Given the description of an element on the screen output the (x, y) to click on. 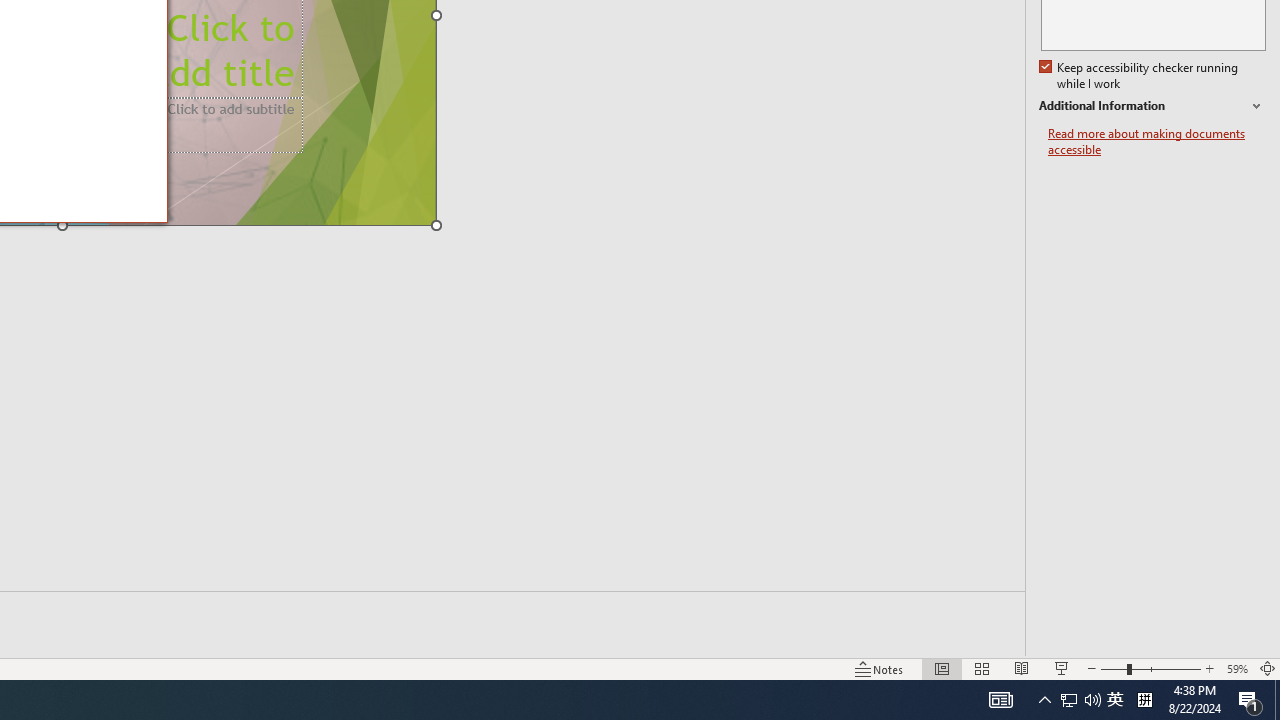
Zoom 59% (1236, 668)
Tray Input Indicator - Chinese (Simplified, China) (1144, 699)
Keep accessibility checker running while I work (1140, 76)
Notification Chevron (1044, 699)
Additional Information (1152, 106)
Q2790: 100% (1092, 699)
Show desktop (1277, 699)
AutomationID: 4105 (1069, 699)
